Given the description of an element on the screen output the (x, y) to click on. 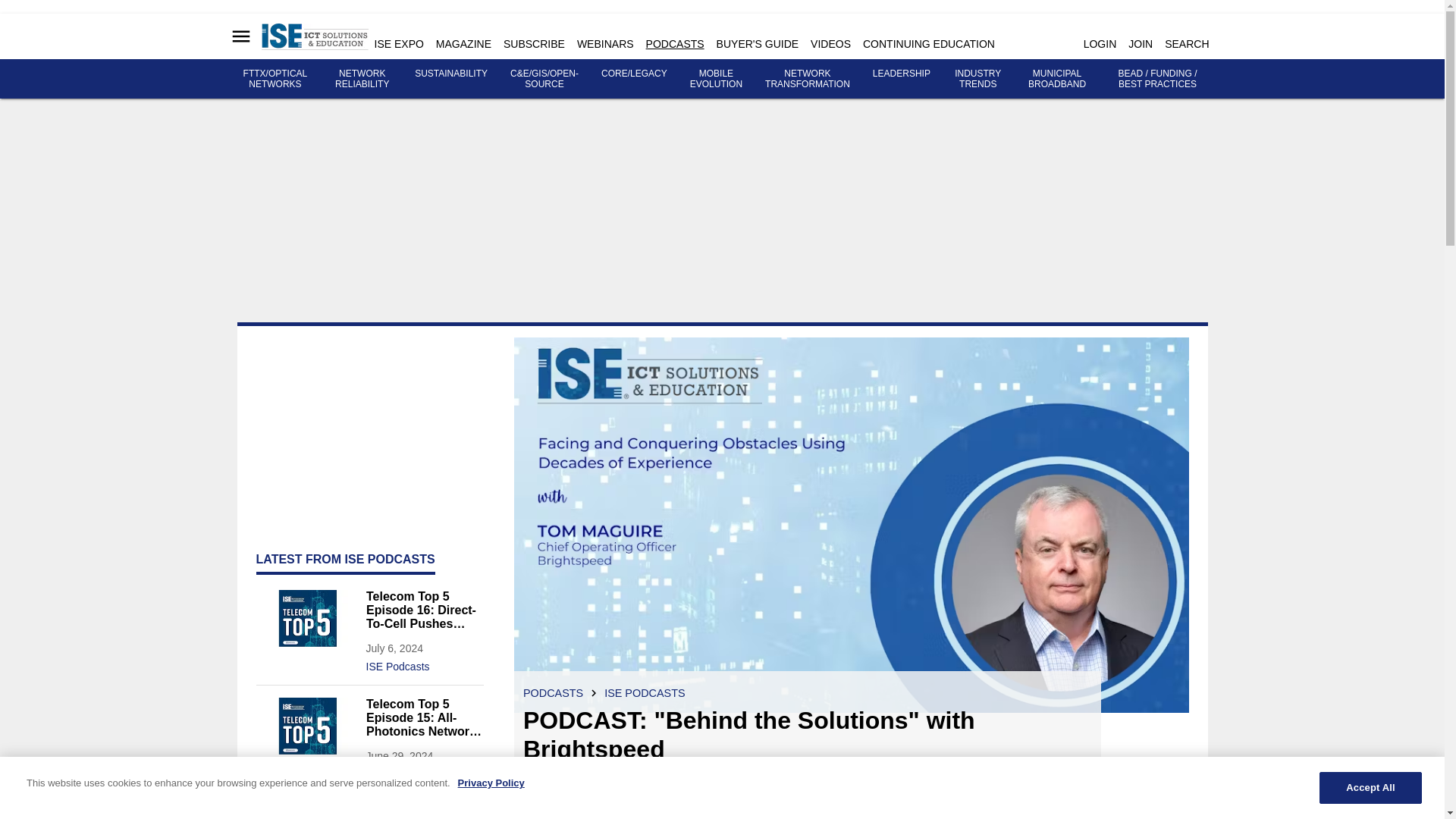
MAGAZINE (463, 43)
BUYER'S GUIDE (756, 43)
ISE EXPO (398, 43)
WEBINARS (604, 43)
LEADERSHIP (901, 72)
SEARCH (1186, 43)
SUBSCRIBE (533, 43)
LOGIN (1099, 43)
NETWORK TRANSFORMATION (807, 78)
JOIN (1140, 43)
NETWORK RELIABILITY (361, 78)
CONTINUING EDUCATION (928, 43)
3rd party ad content (369, 432)
MOBILE EVOLUTION (716, 78)
